Given the description of an element on the screen output the (x, y) to click on. 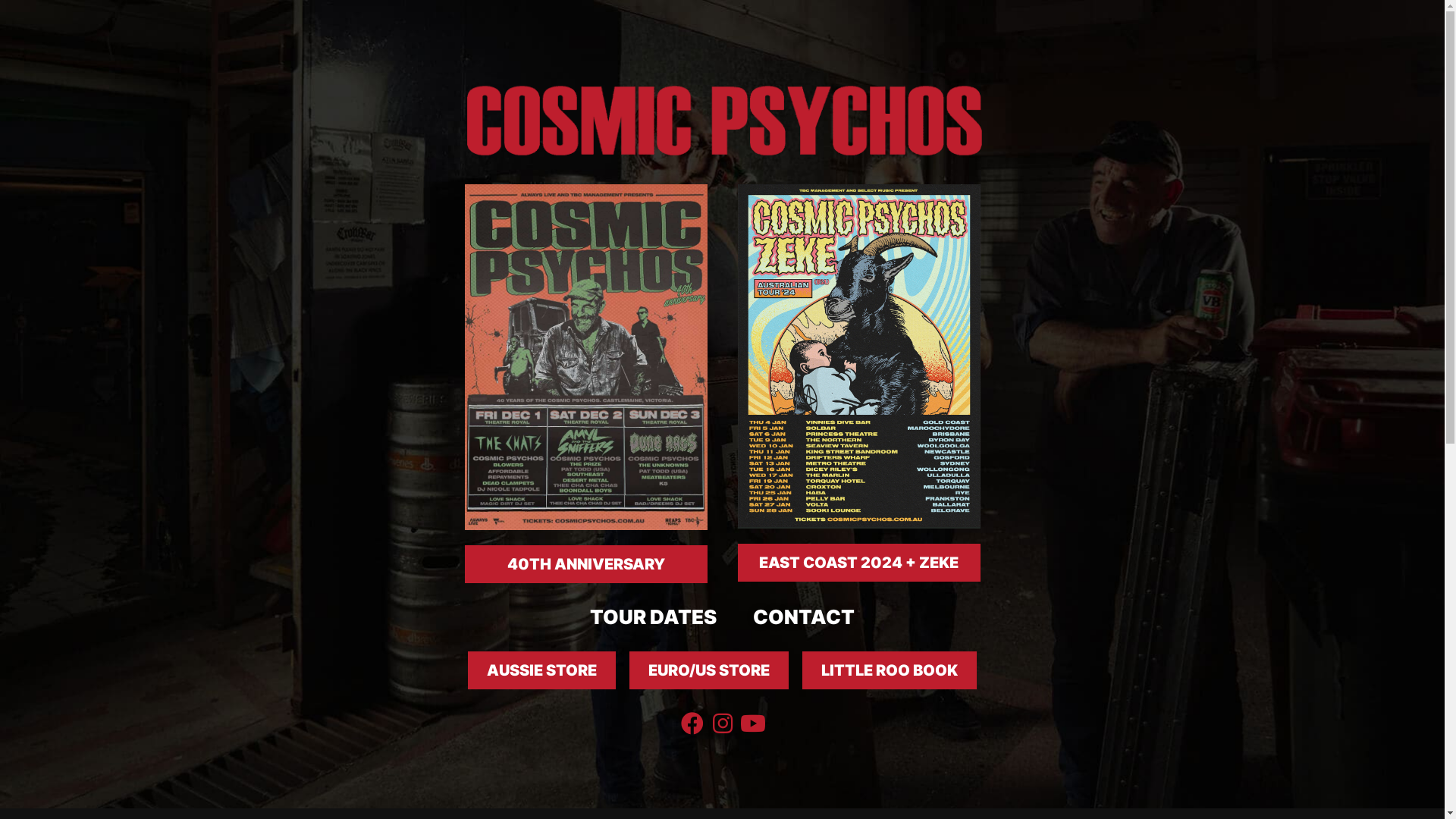
40TH ANNIVERSARY Element type: text (585, 564)
AUSSIE STORE Element type: text (541, 670)
LITTLE ROO BOOK Element type: text (889, 670)
EAST COAST 2024 + ZEKE Element type: text (858, 562)
EURO/US STORE Element type: text (708, 670)
TOUR DATES Element type: text (652, 617)
CONTACT Element type: text (803, 617)
